Given the description of an element on the screen output the (x, y) to click on. 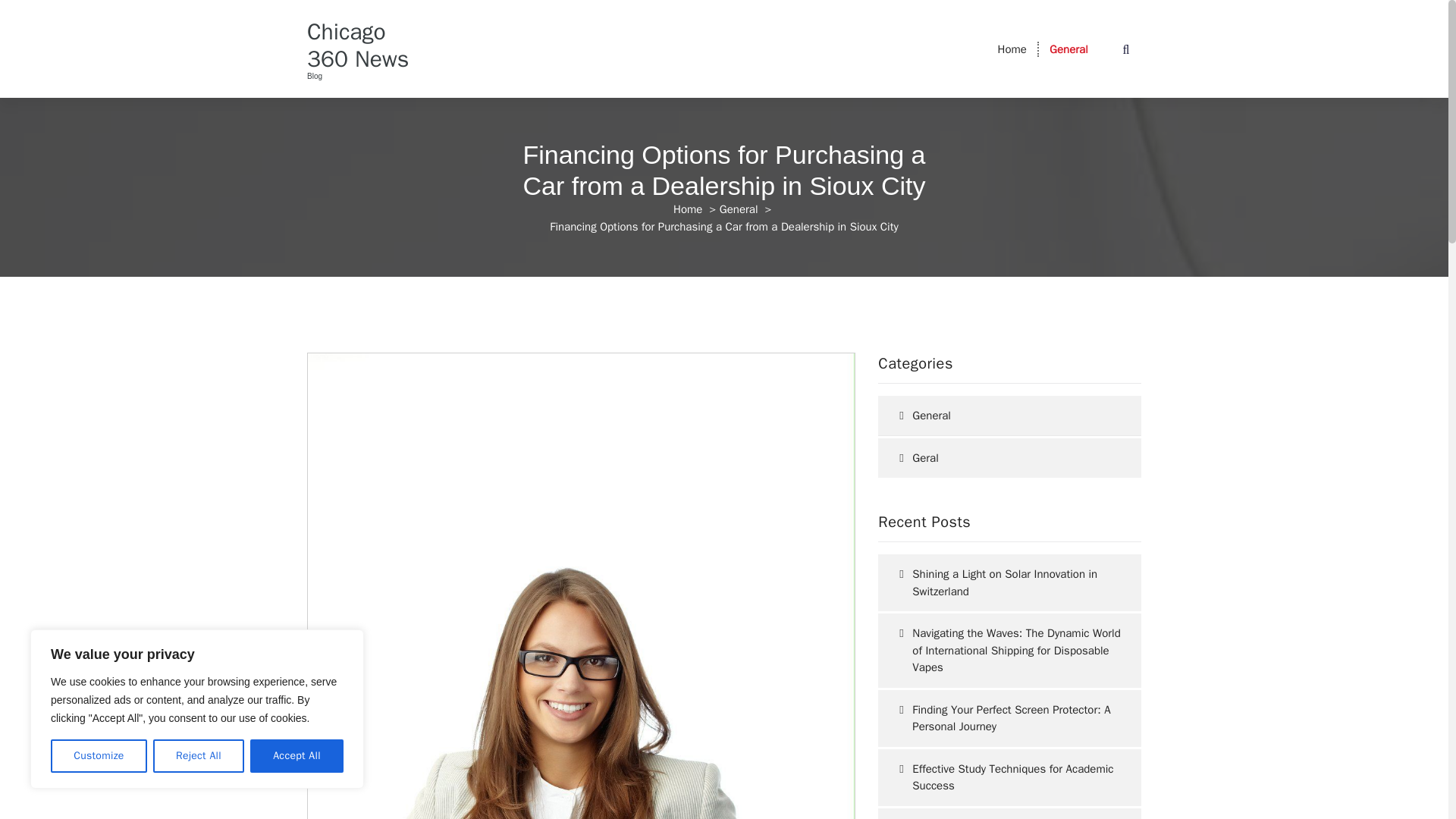
Customize (98, 756)
Accept All (296, 756)
Home (686, 209)
General (1068, 49)
General (738, 209)
Home (1012, 49)
Home (1012, 49)
Reject All (198, 756)
Chicago 360 News (366, 45)
General (1068, 49)
